Given the description of an element on the screen output the (x, y) to click on. 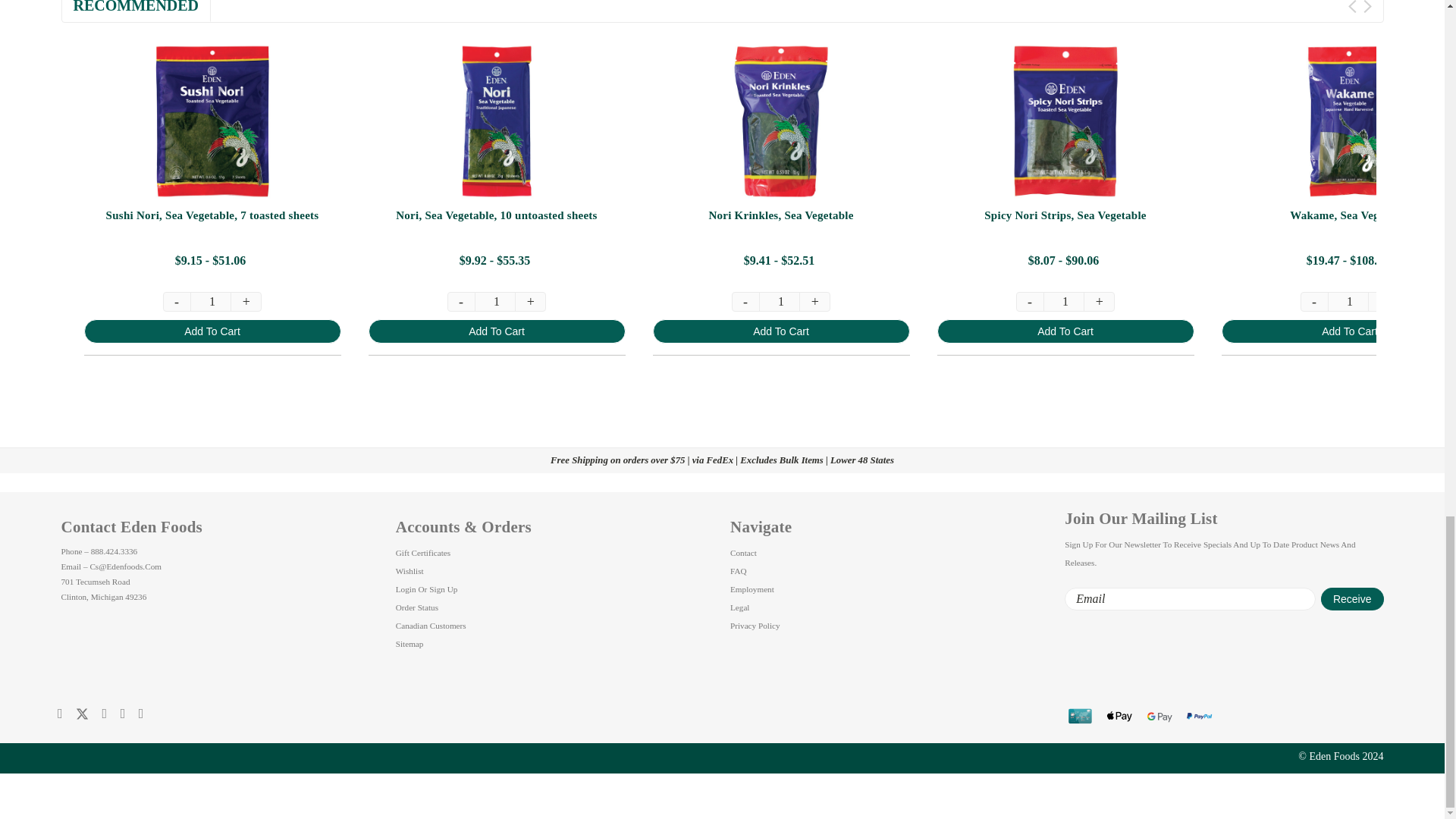
Receive (1352, 599)
1 (1065, 301)
1 (1349, 301)
1 (212, 301)
1 (496, 301)
1 (780, 301)
